Given the description of an element on the screen output the (x, y) to click on. 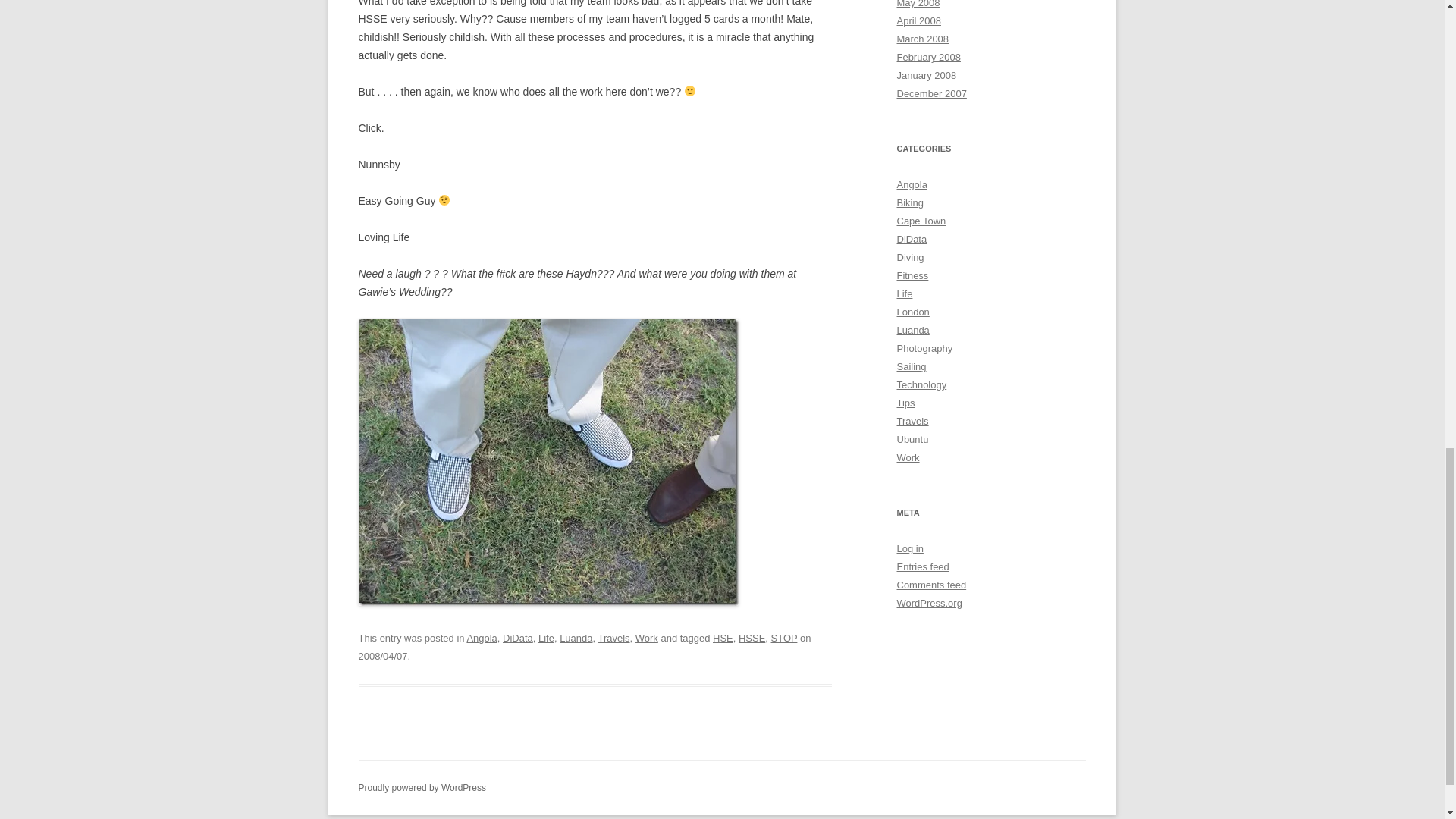
STOP (784, 637)
Work (646, 637)
HSE (723, 637)
Life (546, 637)
DiData (517, 637)
HSSE (751, 637)
Angola (480, 637)
Luanda (575, 637)
Travels (612, 637)
22:18 (382, 655)
Semantic Personal Publishing Platform (422, 787)
